Given the description of an element on the screen output the (x, y) to click on. 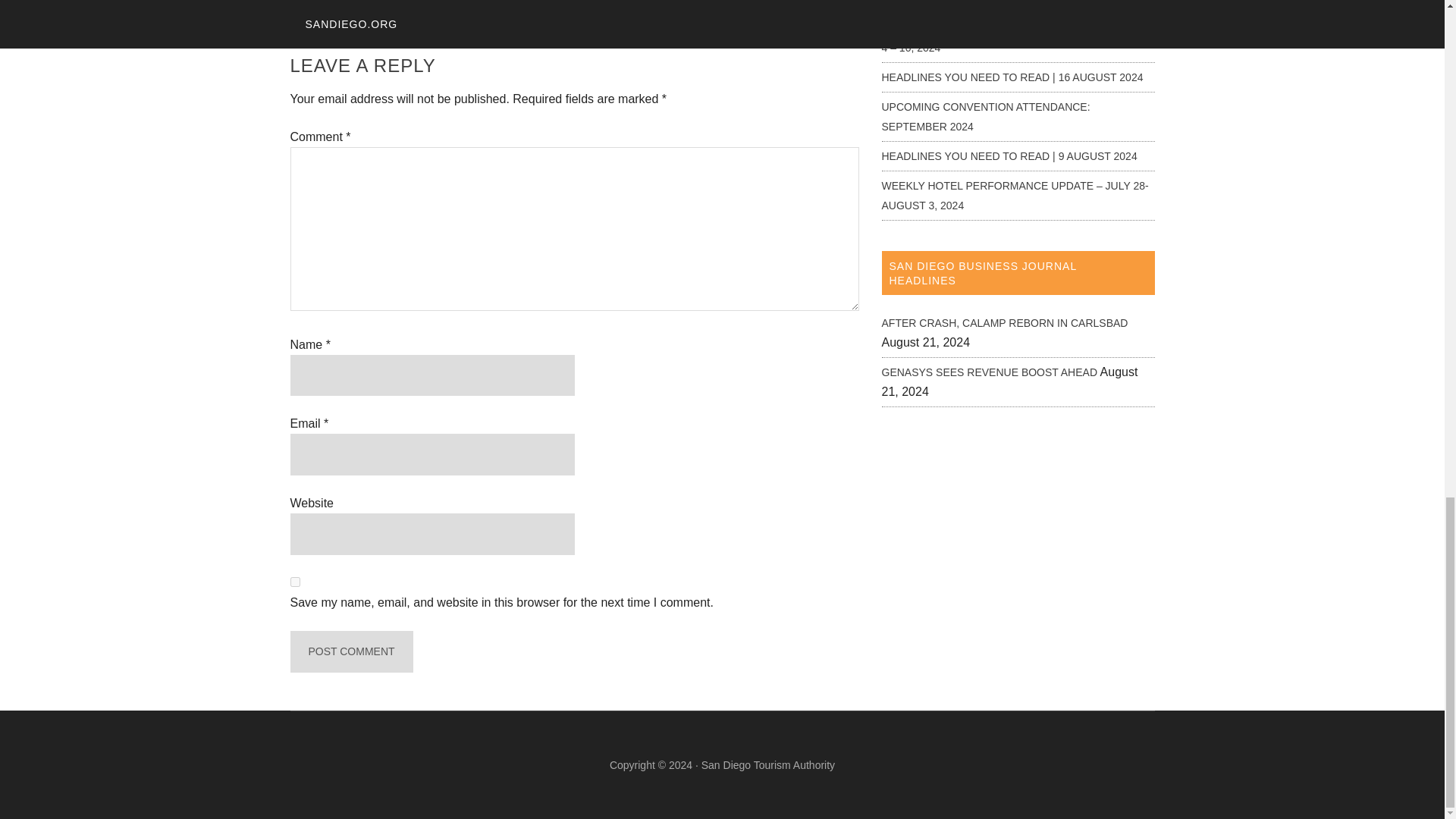
Post Comment (350, 651)
yes (294, 582)
Post Comment (350, 651)
